Given the description of an element on the screen output the (x, y) to click on. 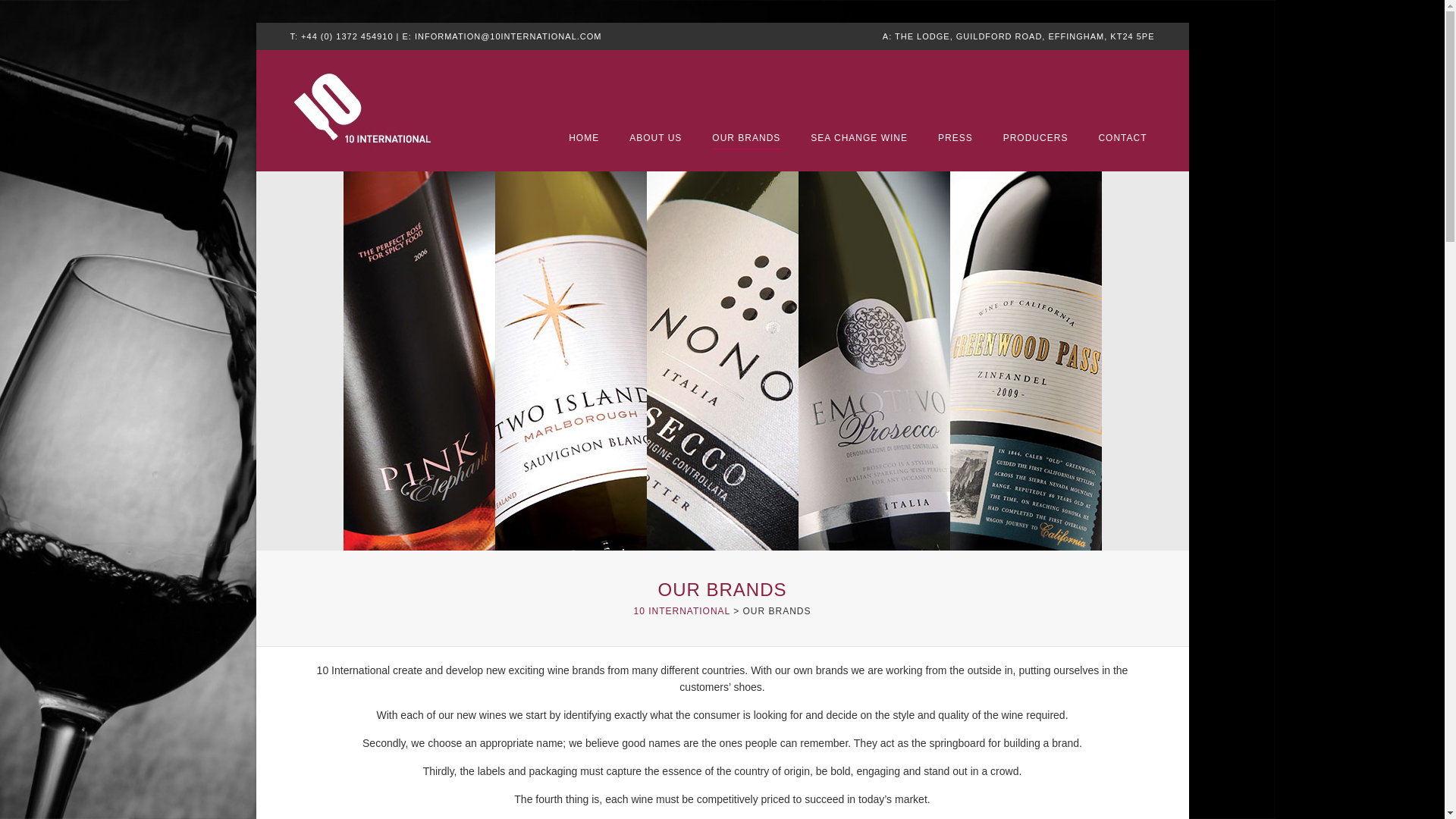
ABOUT US Element type: text (655, 138)
OUR BRANDS Element type: text (746, 138)
PRESS Element type: text (955, 138)
INFORMATION@10INTERNATIONAL.COM Element type: text (508, 35)
CONTACT Element type: text (1122, 138)
10 INTERNATIONAL Element type: text (681, 610)
PRODUCERS Element type: text (1035, 138)
SEA CHANGE WINE Element type: text (858, 138)
HOME Element type: text (583, 138)
